Given the description of an element on the screen output the (x, y) to click on. 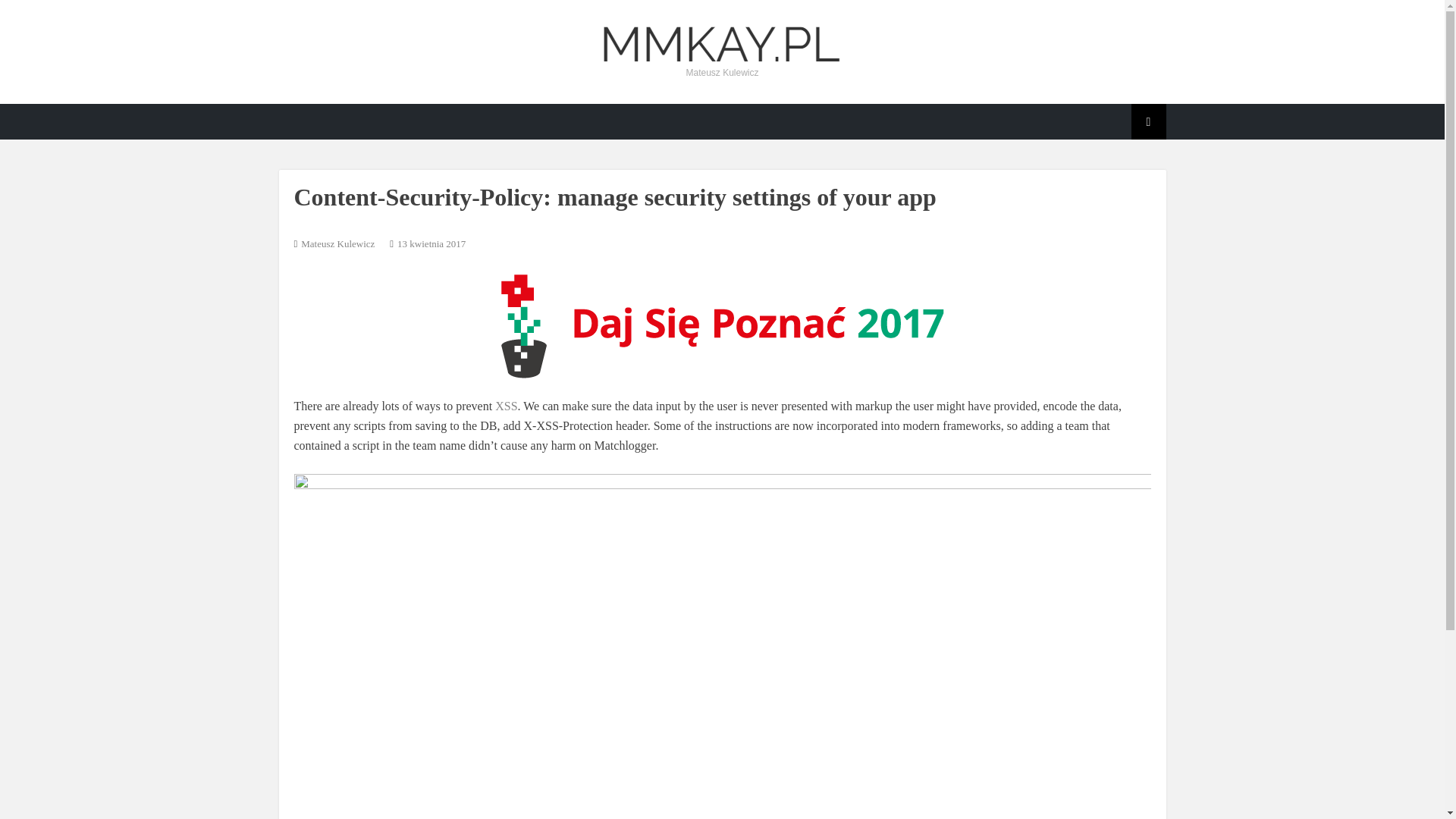
13 kwietnia 2017 (431, 243)
Mateusz Kulewicz (337, 243)
XSS (505, 405)
